Given the description of an element on the screen output the (x, y) to click on. 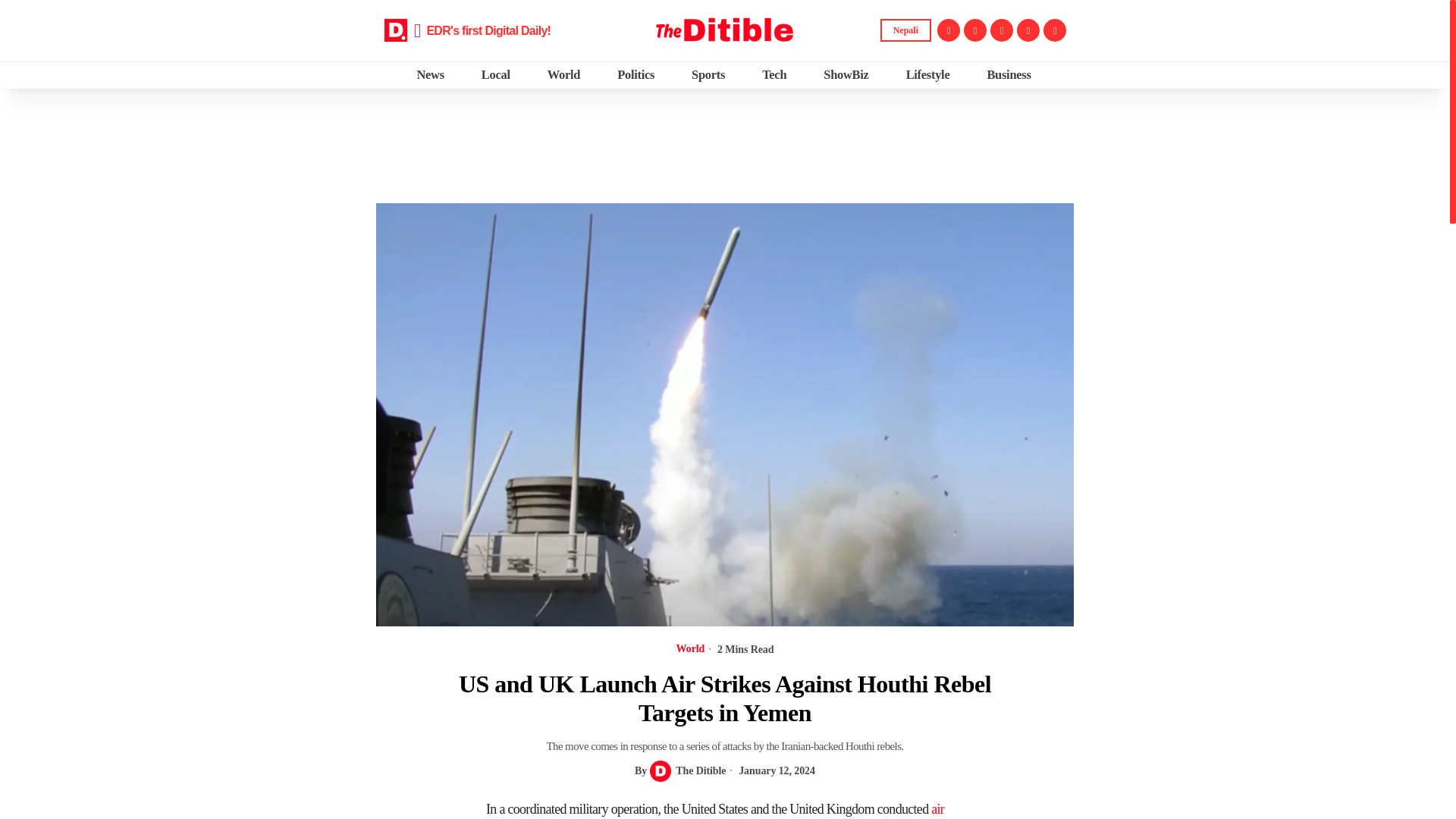
Business (1009, 74)
12 Jan, 2024 12:43:17 (770, 770)
ShowBiz (847, 74)
Lifestyle (928, 74)
Nepali (905, 29)
air strikes against Houthi rebel (714, 809)
World (564, 74)
Sports (709, 74)
Tech (775, 74)
World (690, 649)
The Ditible (687, 770)
News (430, 74)
Politics (636, 74)
Local (496, 74)
